Given the description of an element on the screen output the (x, y) to click on. 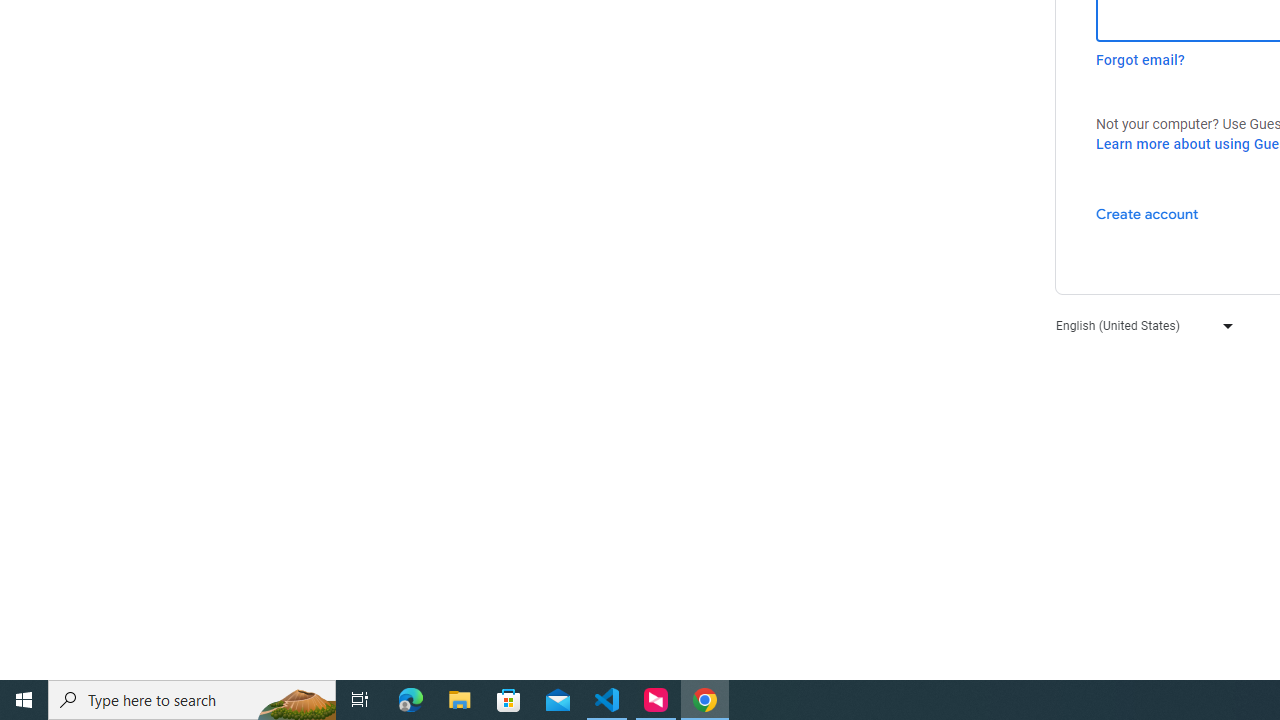
Create account (1146, 213)
Forgot email? (1140, 59)
